Given the description of an element on the screen output the (x, y) to click on. 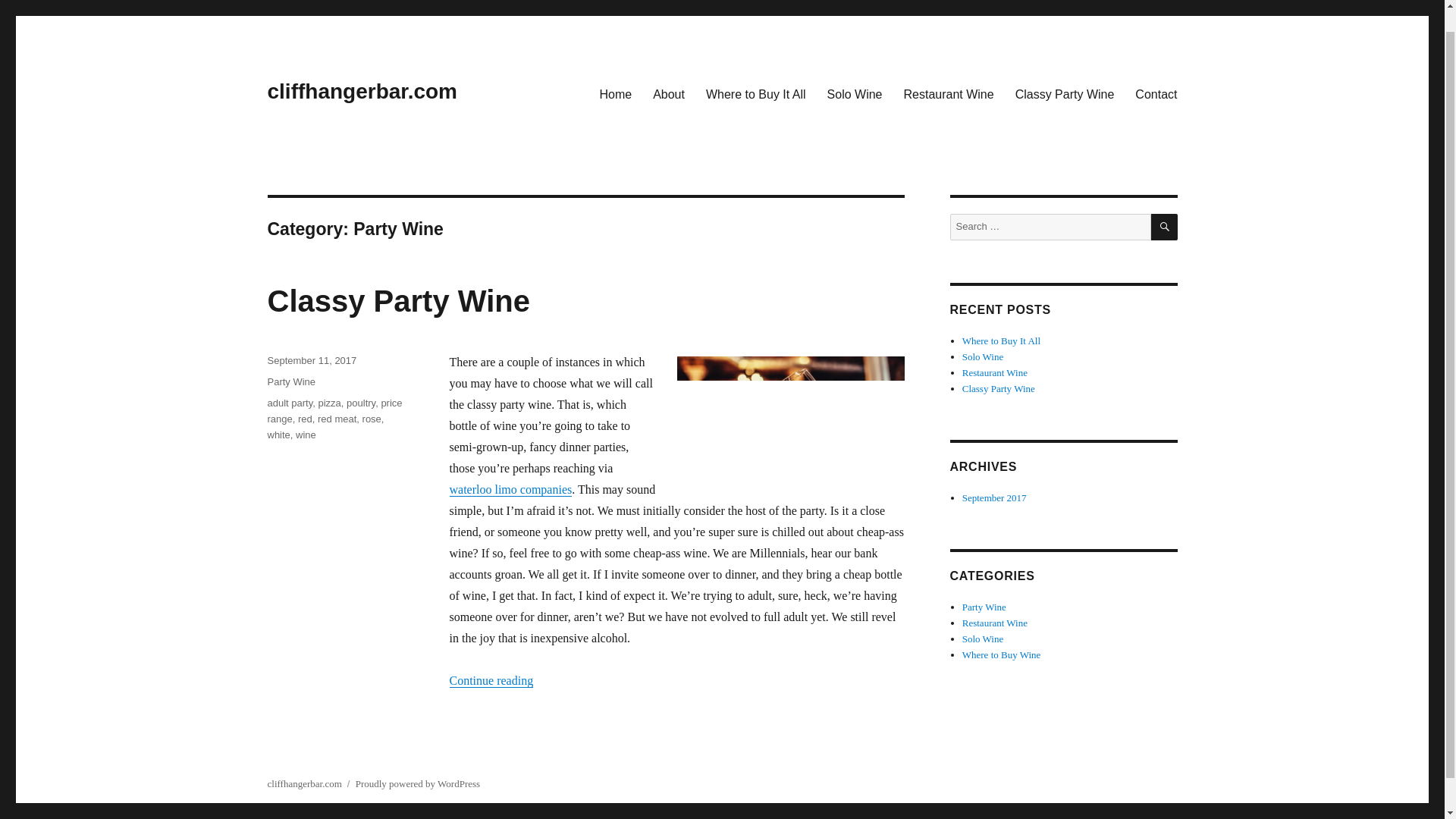
About (668, 93)
Restaurant Wine (994, 622)
rose (371, 419)
Home (615, 93)
Where to Buy It All (755, 93)
Solo Wine (983, 356)
Restaurant Wine (948, 93)
red (305, 419)
Classy Party Wine (397, 300)
price range (333, 411)
September 2017 (994, 497)
adult party (289, 402)
poultry (360, 402)
Where to Buy It All (1001, 340)
Classy Party Wine (998, 388)
